Given the description of an element on the screen output the (x, y) to click on. 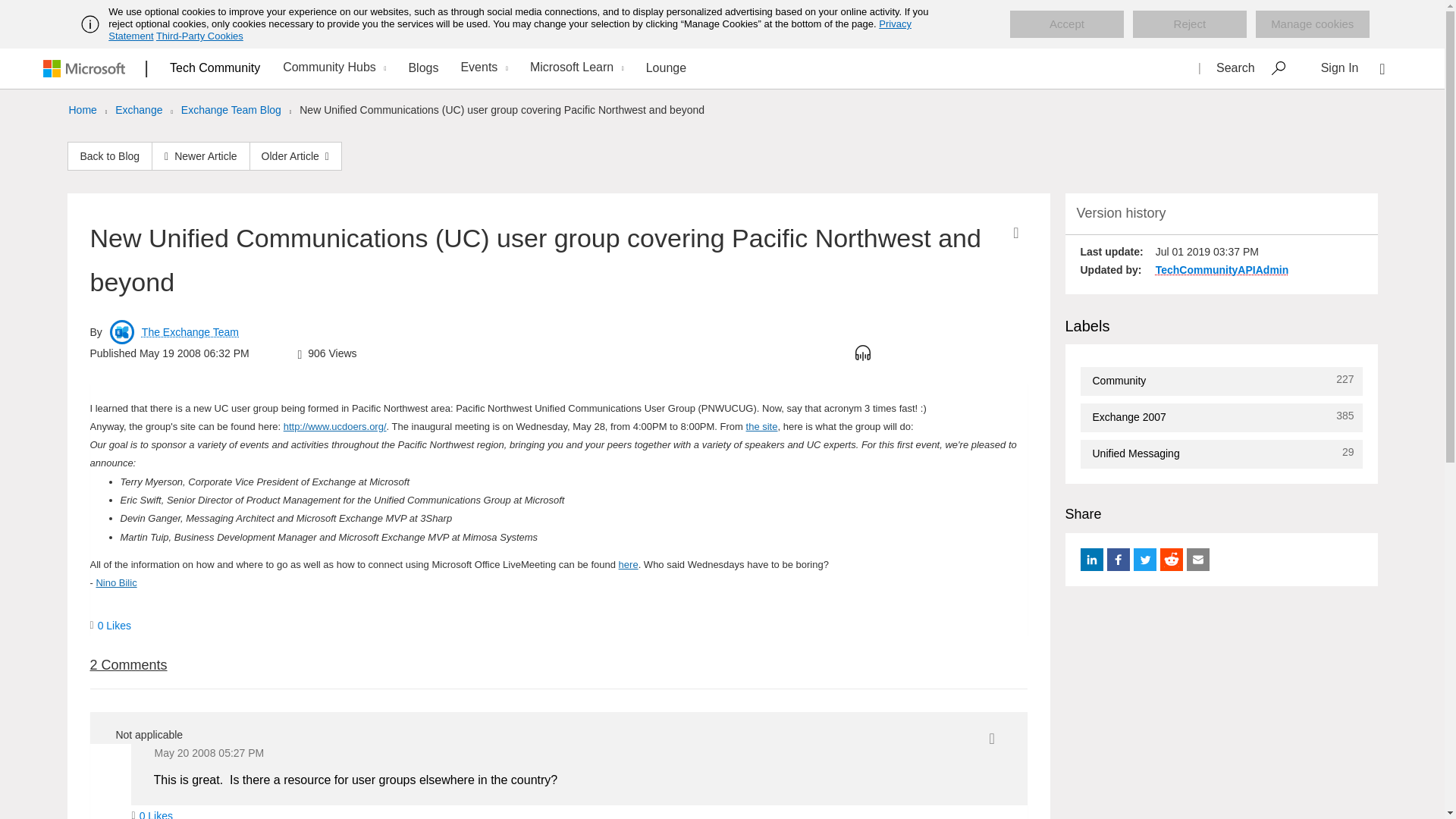
Privacy Statement (509, 29)
Reject (1189, 23)
Accept (1067, 23)
Manage cookies (1312, 23)
Tech Community (215, 67)
Community Hubs (332, 67)
Third-Party Cookies (199, 35)
